Given the description of an element on the screen output the (x, y) to click on. 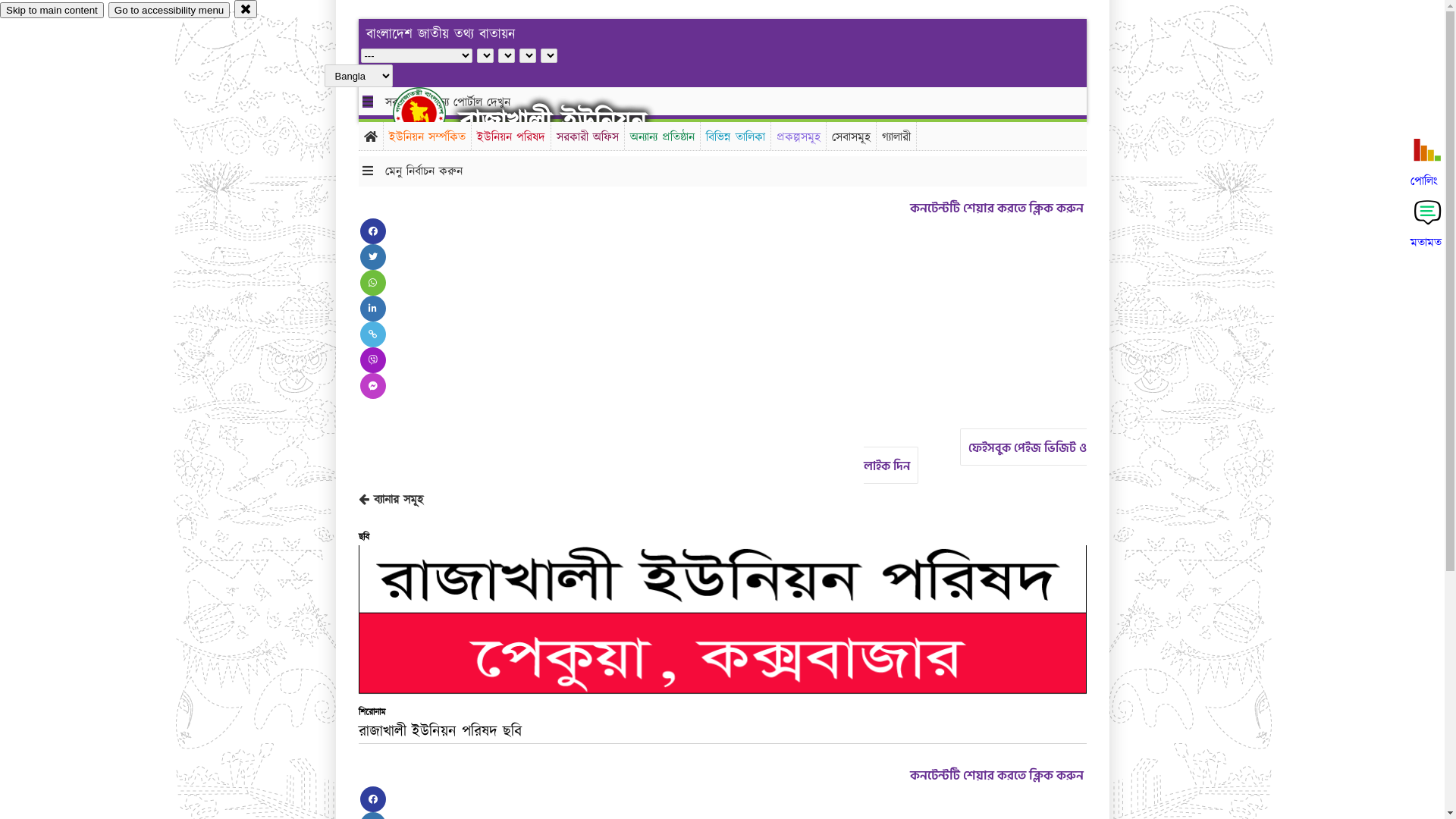
Skip to main content Element type: text (51, 10)
close Element type: hover (245, 9)
Go to accessibility menu Element type: text (168, 10)

                
             Element type: hover (431, 112)
